Given the description of an element on the screen output the (x, y) to click on. 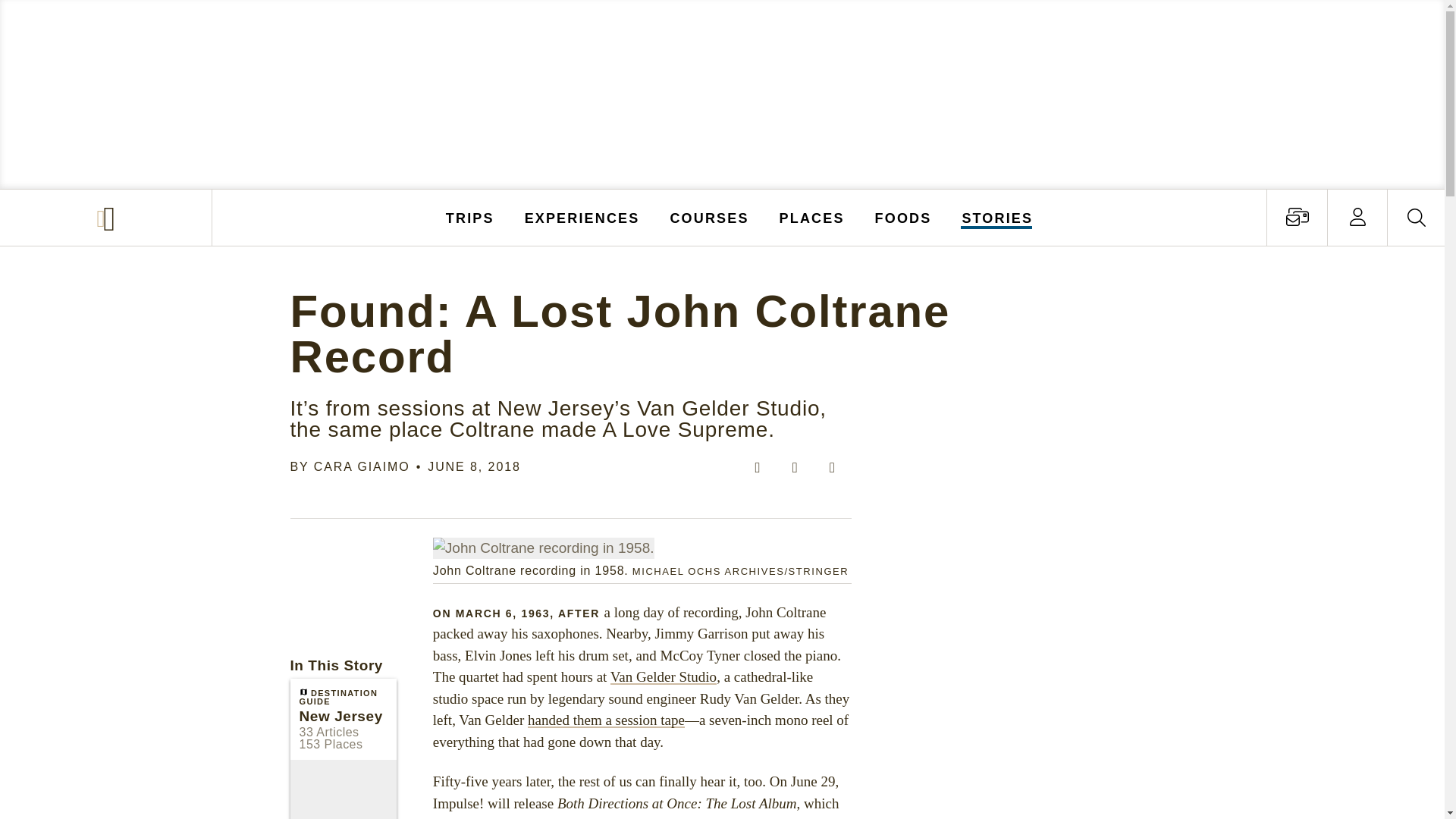
EXPERIENCES (582, 217)
PLACES (812, 217)
TRIPS (469, 217)
COURSES (707, 217)
